Given the description of an element on the screen output the (x, y) to click on. 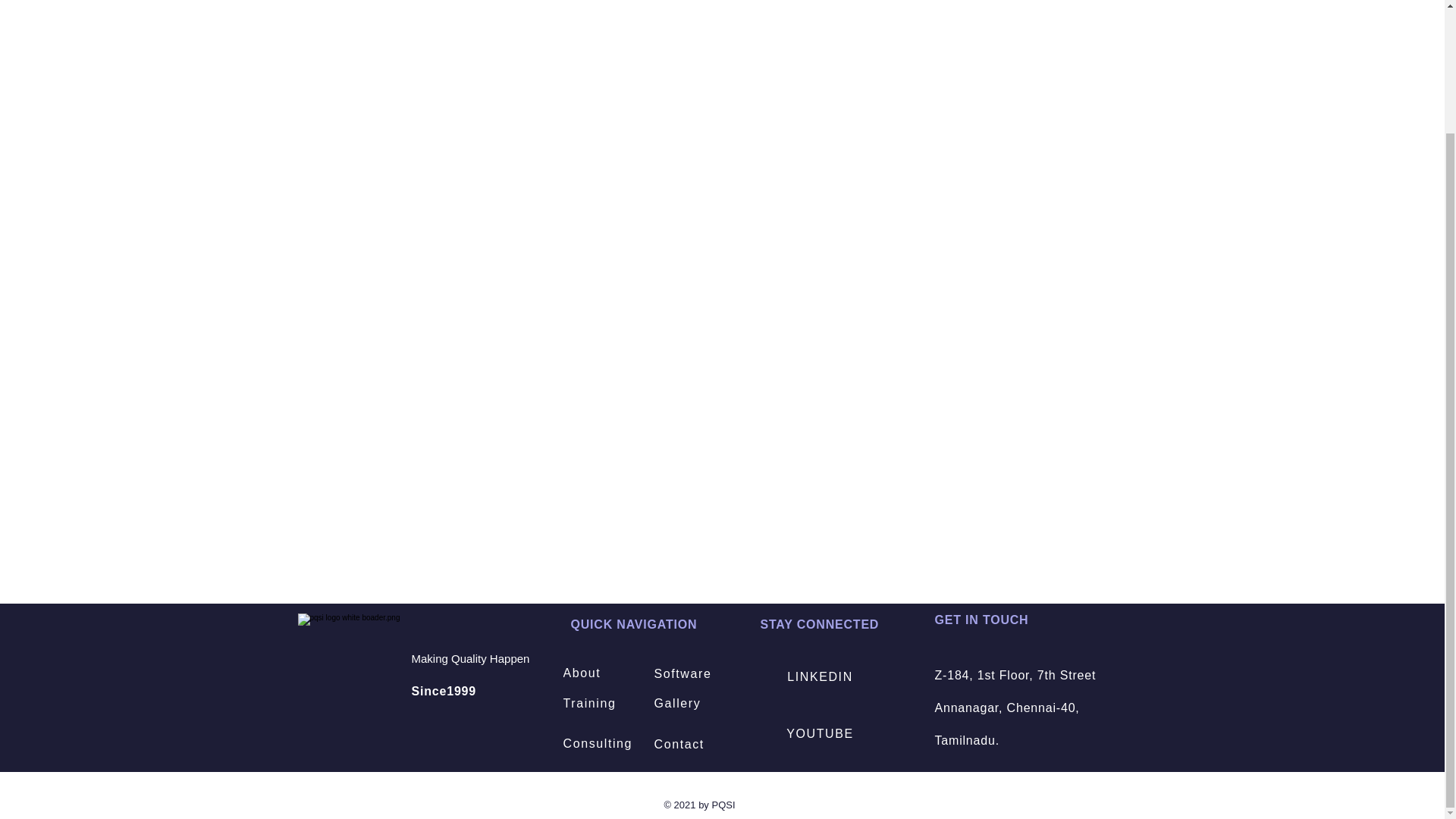
Consulting (604, 743)
YOUTUBE (821, 734)
About (594, 673)
Making Quality Happen (469, 658)
Since1999 (443, 690)
Software (703, 674)
Gallery (703, 703)
LINKEDIN (821, 676)
Training (594, 703)
Contact (703, 744)
